Given the description of an element on the screen output the (x, y) to click on. 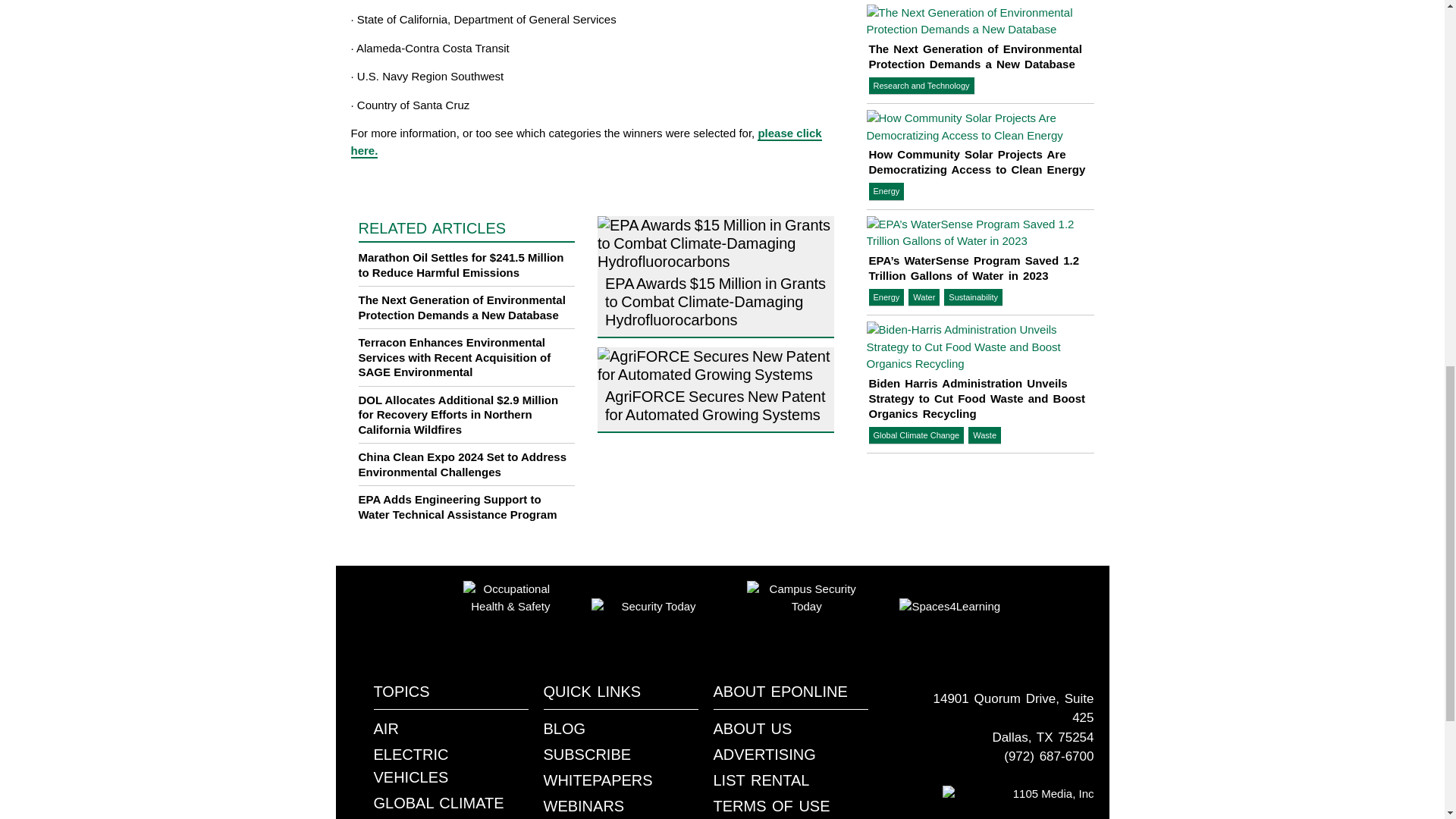
please click here. (585, 142)
